Given the description of an element on the screen output the (x, y) to click on. 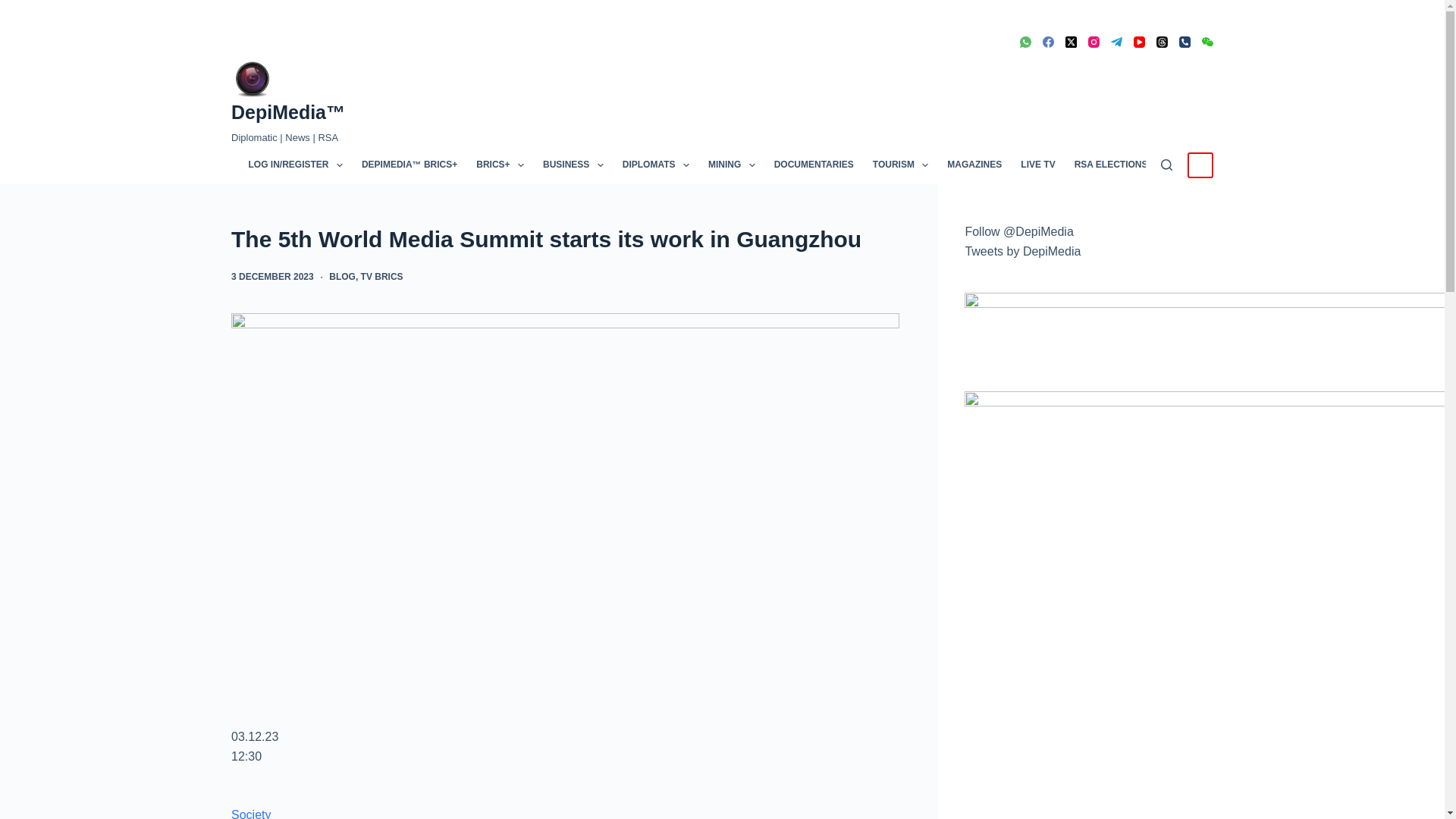
The 5th World Media Summit starts its work in Guangzhou (565, 238)
Skip to content (15, 7)
